Given the description of an element on the screen output the (x, y) to click on. 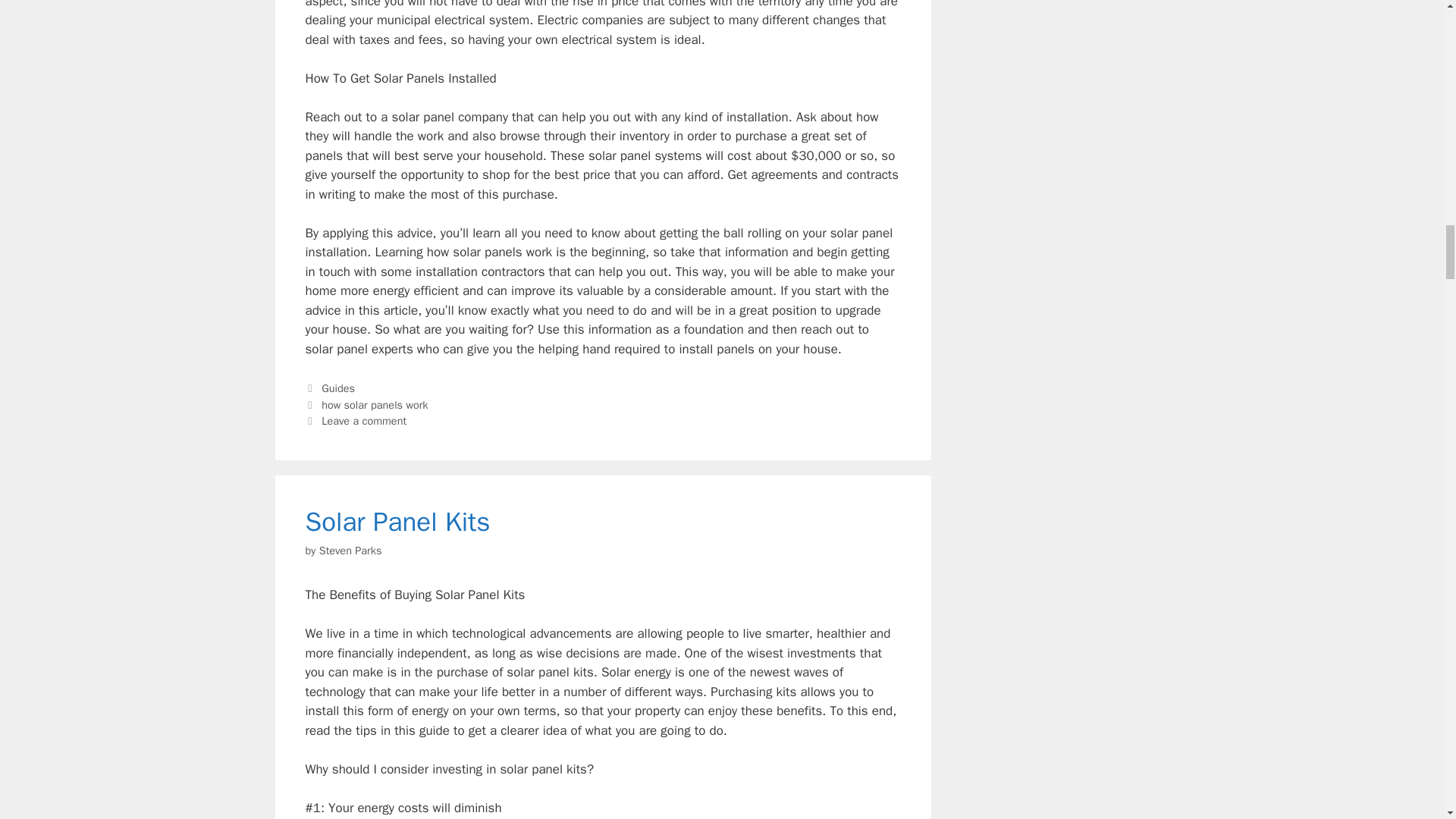
Leave a comment (363, 420)
View all posts by Steven Parks (349, 550)
how solar panels work (374, 404)
Solar Panel Kits (396, 521)
Guides (338, 387)
Steven Parks (349, 550)
